Given the description of an element on the screen output the (x, y) to click on. 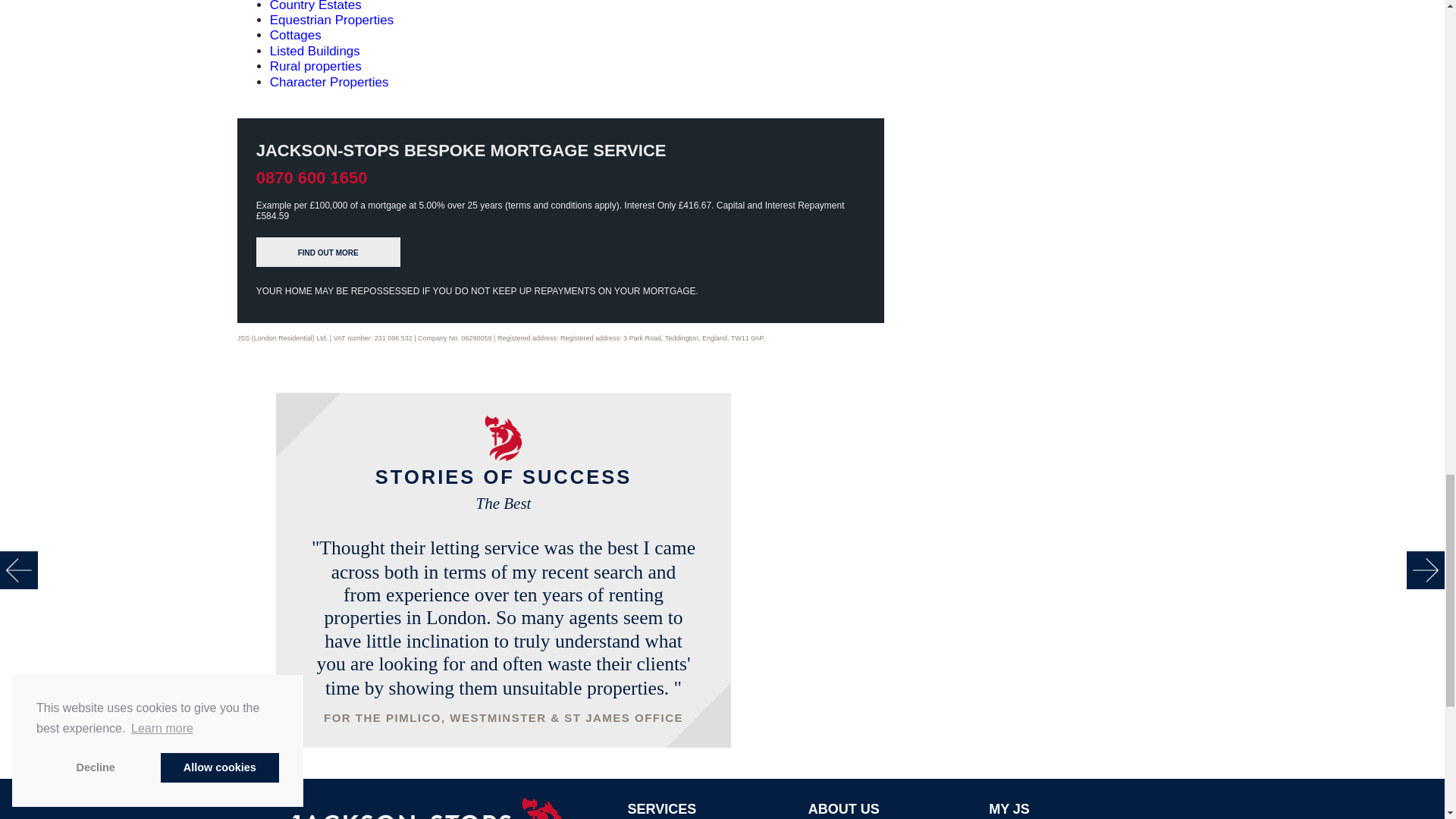
Homepage (450, 810)
